Given the description of an element on the screen output the (x, y) to click on. 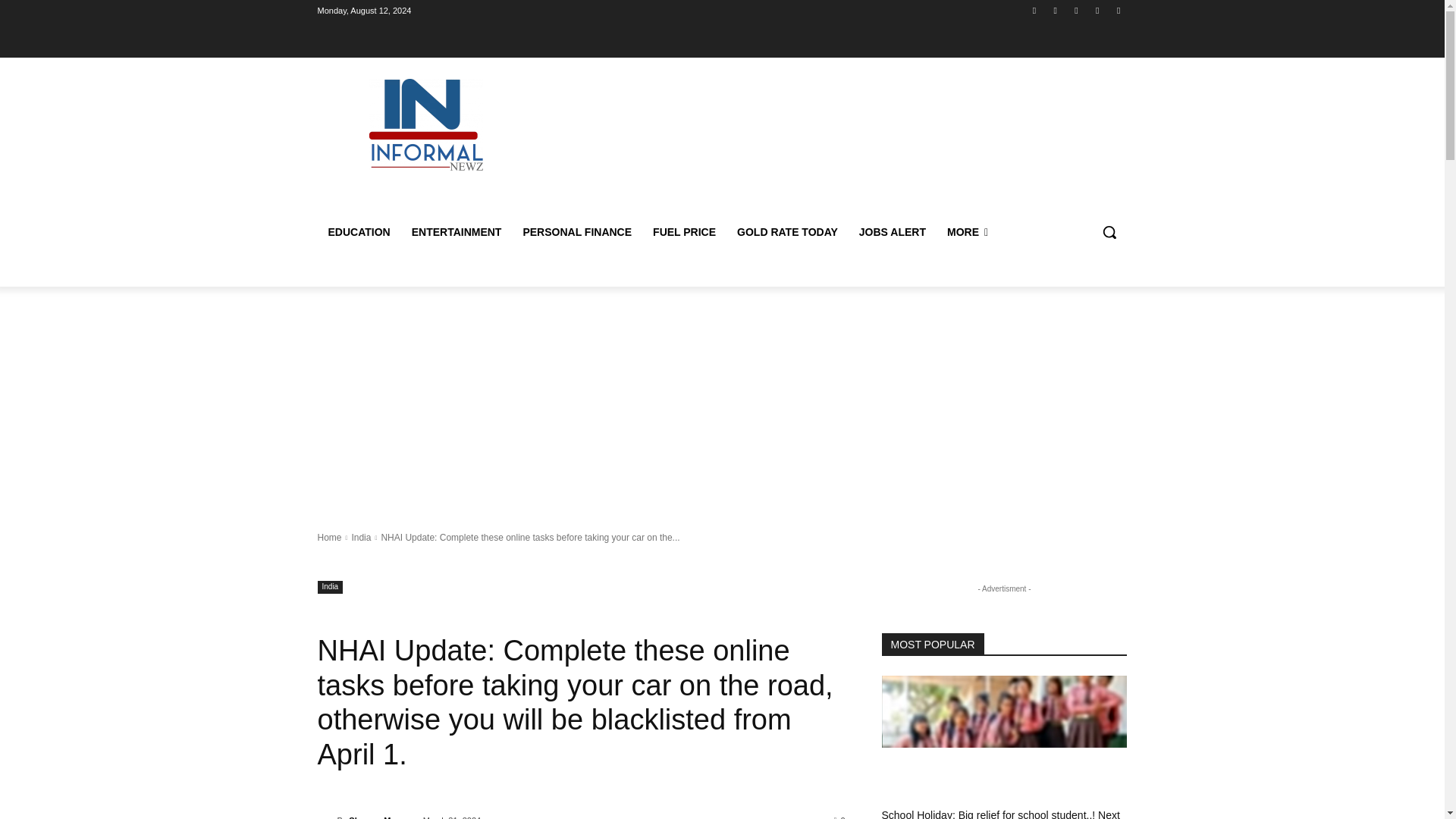
PERSONAL FINANCE (577, 231)
ENTERTAINMENT (456, 231)
Youtube (1117, 9)
WhatsApp (1097, 9)
Twitter (1075, 9)
GOLD RATE TODAY (787, 231)
FUEL PRICE (684, 231)
Facebook (1034, 9)
JOBS ALERT (892, 231)
